Given the description of an element on the screen output the (x, y) to click on. 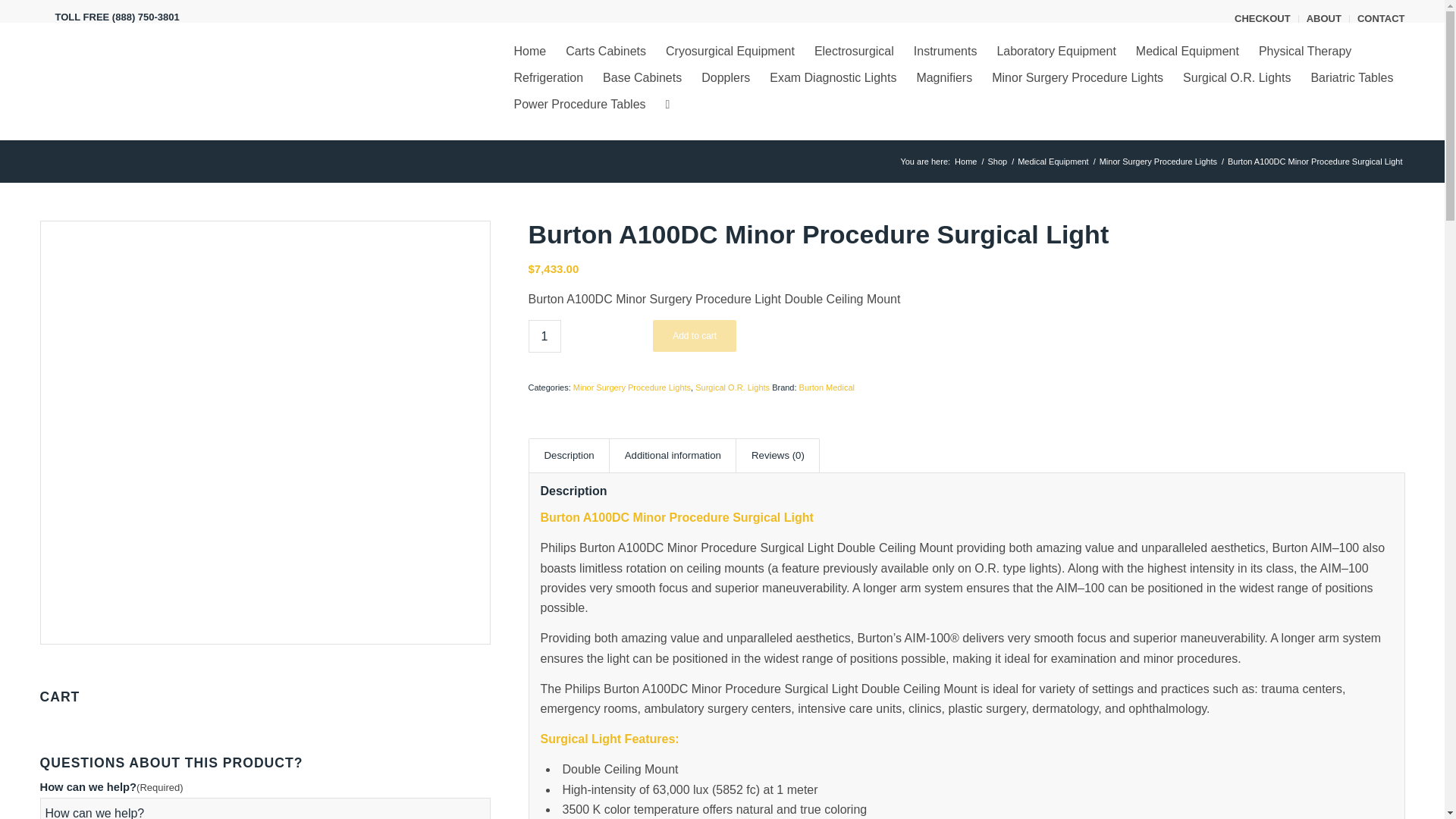
1 (543, 336)
Home (529, 50)
Medical Equipment (1052, 161)
CONTACT (1380, 18)
Summit Surgical Technologies (965, 161)
ABOUT (1323, 18)
Shop (997, 161)
Cryosurgical Equipment (730, 50)
CHECKOUT (1262, 18)
Carts Cabinets (606, 50)
Minor Surgery Procedure Lights (1158, 161)
